Given the description of an element on the screen output the (x, y) to click on. 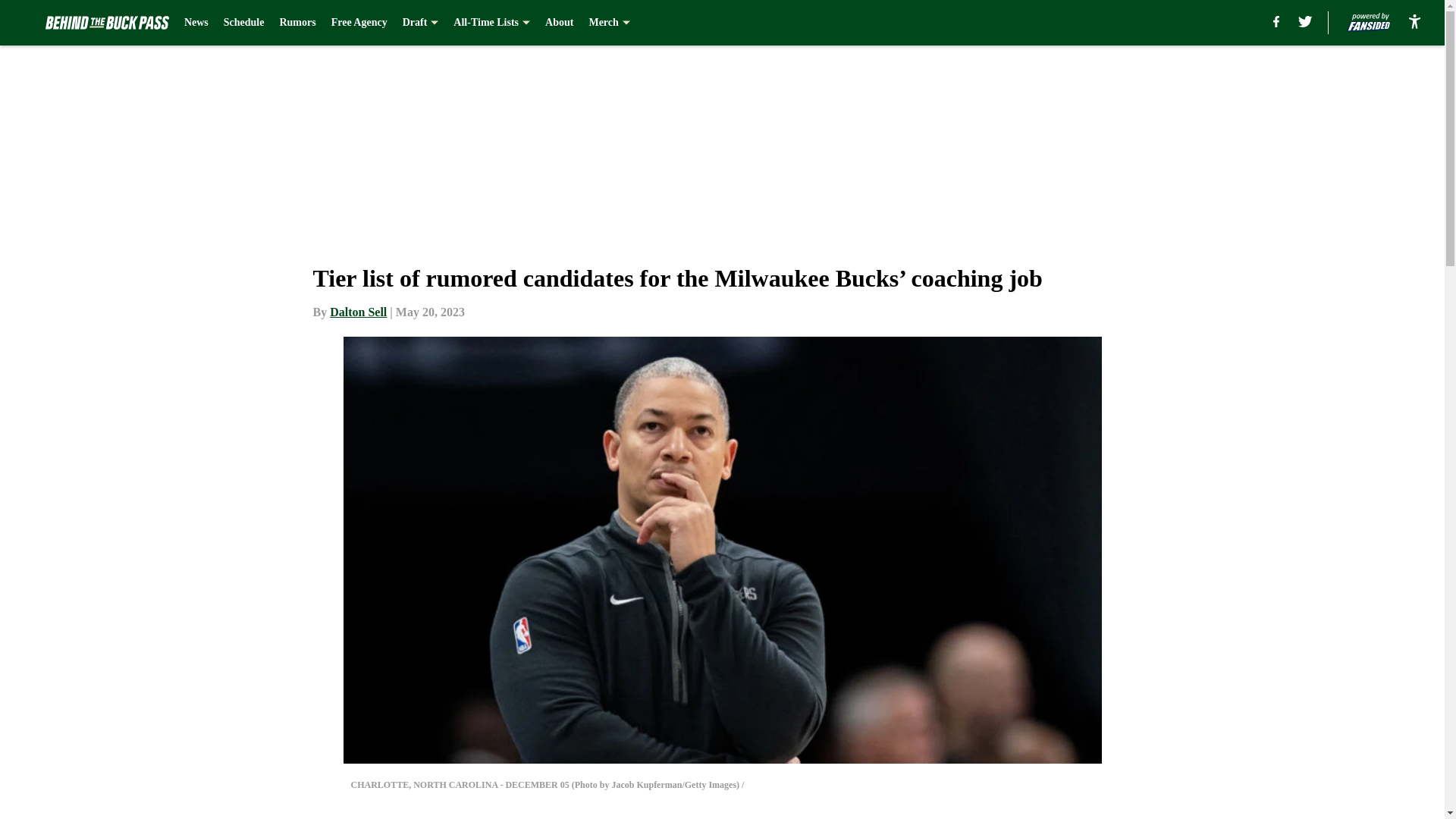
Rumors (297, 22)
Dalton Sell (358, 311)
Free Agency (359, 22)
Schedule (244, 22)
All-Time Lists (490, 22)
Draft (421, 22)
About (558, 22)
News (196, 22)
